Given the description of an element on the screen output the (x, y) to click on. 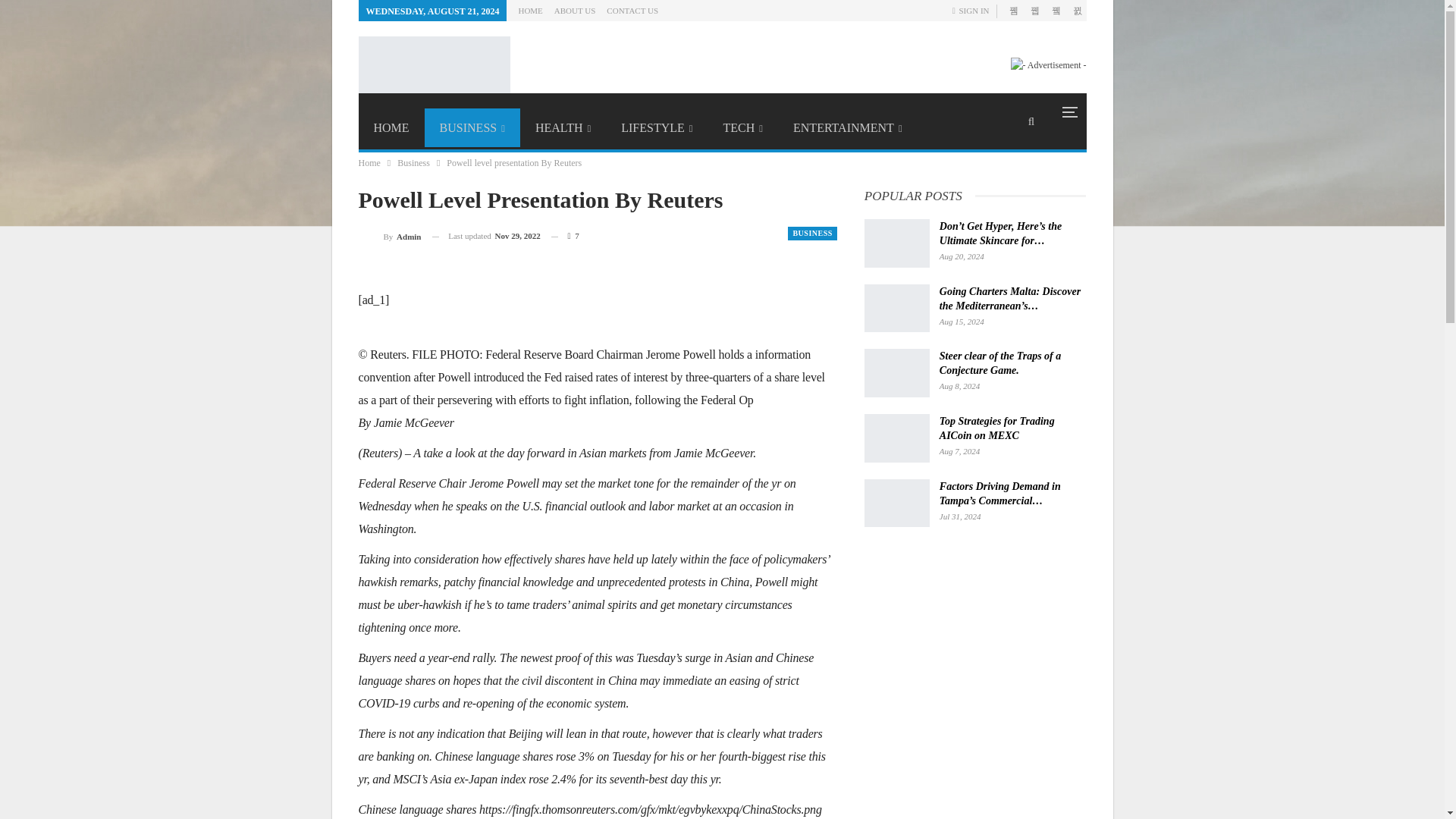
HOME (529, 10)
Browse Author Articles (389, 236)
CONTACT US (632, 10)
TECH (742, 127)
ABOUT US (574, 10)
LIFESTYLE (656, 127)
SIGN IN (973, 10)
HOME (390, 127)
HEALTH (562, 127)
BUSINESS (472, 127)
